Given the description of an element on the screen output the (x, y) to click on. 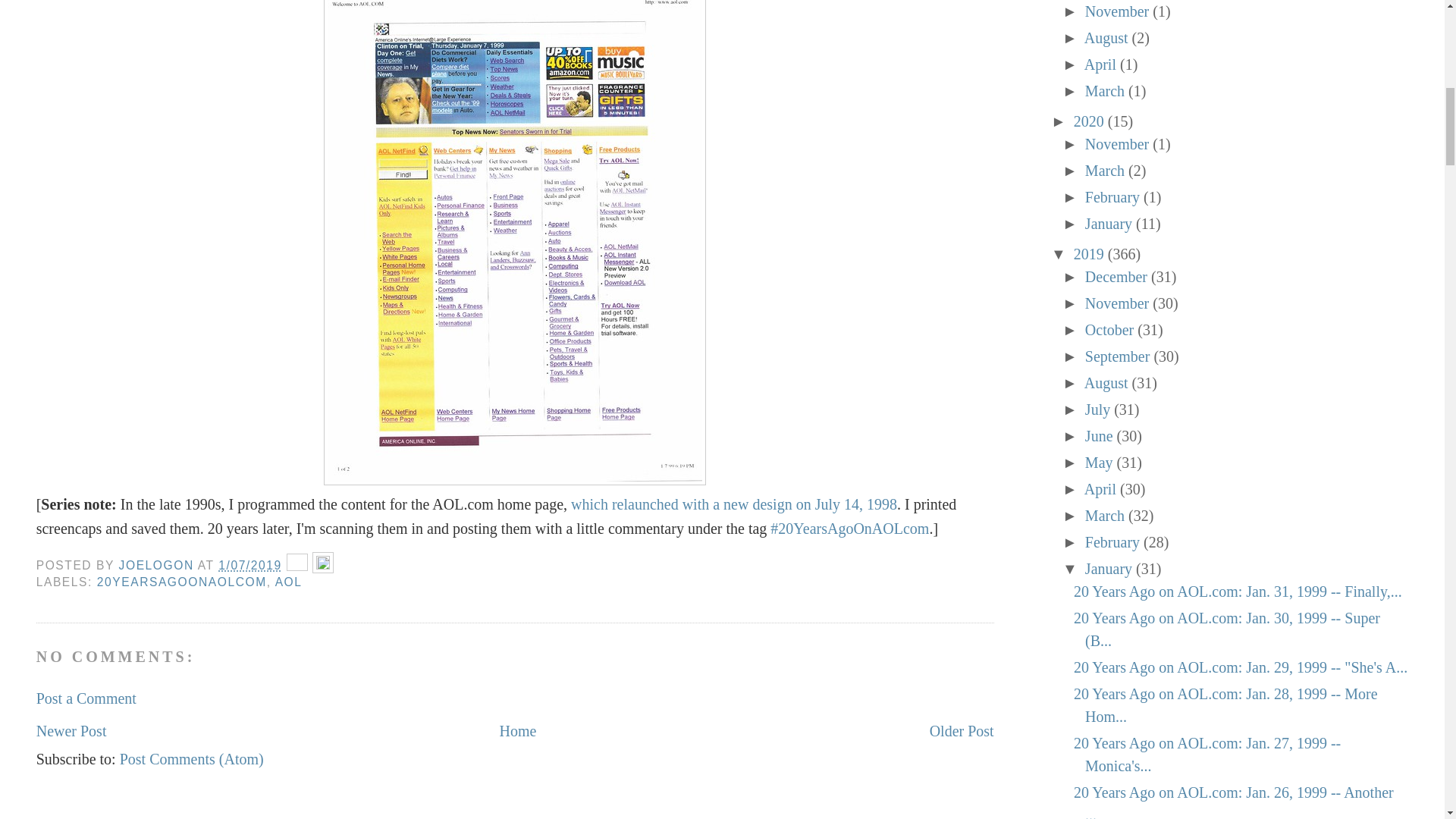
Older Post (962, 730)
AOL (288, 581)
20YEARSAGOONAOLCOM (181, 581)
Email Post (299, 564)
JOELOGON (158, 564)
Newer Post (71, 730)
Newer Post (71, 730)
Edit Post (323, 564)
Home (518, 730)
Older Post (962, 730)
which relaunched with a new design on July 14, 1998 (733, 504)
Post a Comment (86, 698)
permanent link (249, 564)
author profile (158, 564)
